Given the description of an element on the screen output the (x, y) to click on. 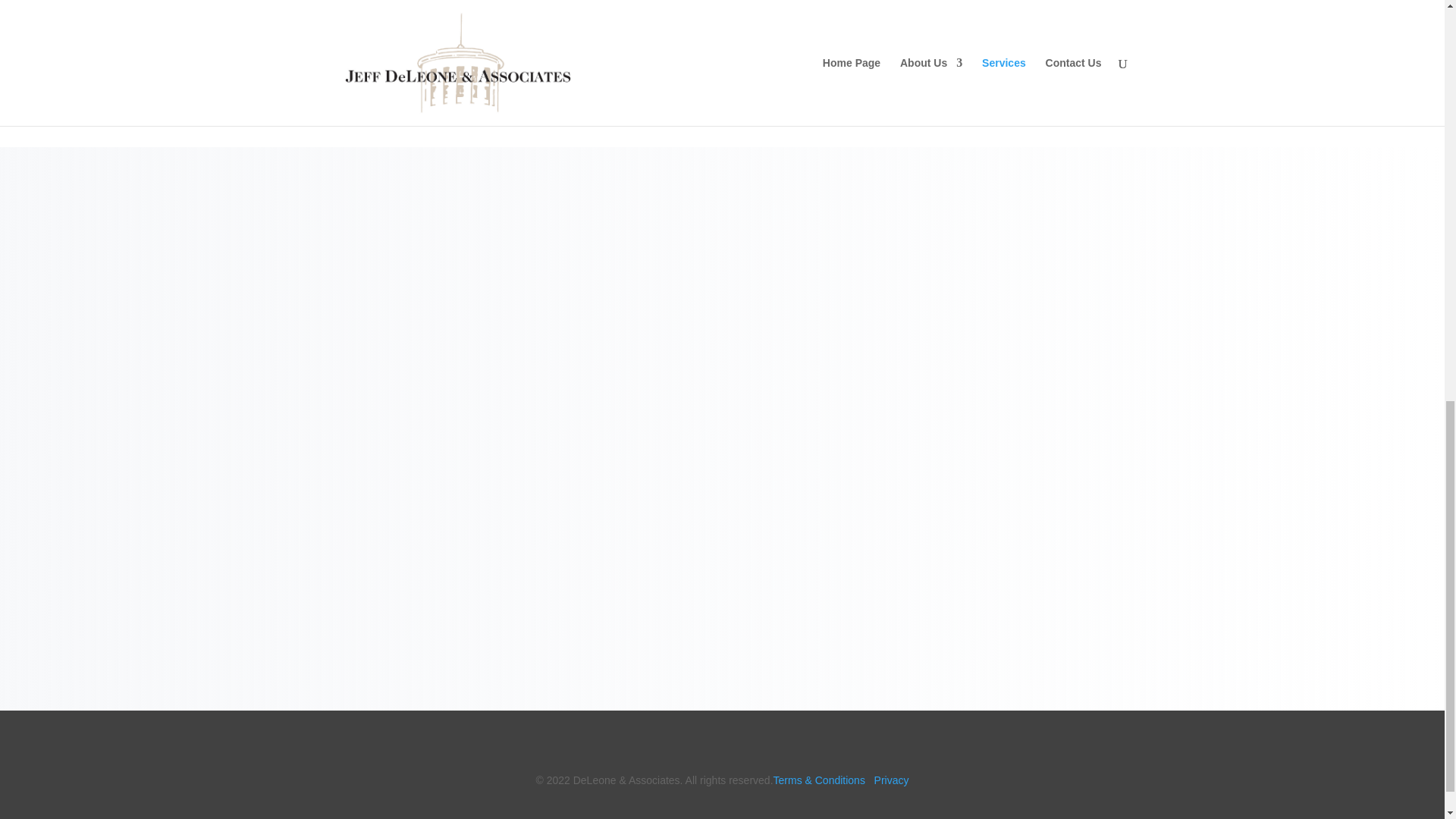
Privacy (891, 779)
